Given the description of an element on the screen output the (x, y) to click on. 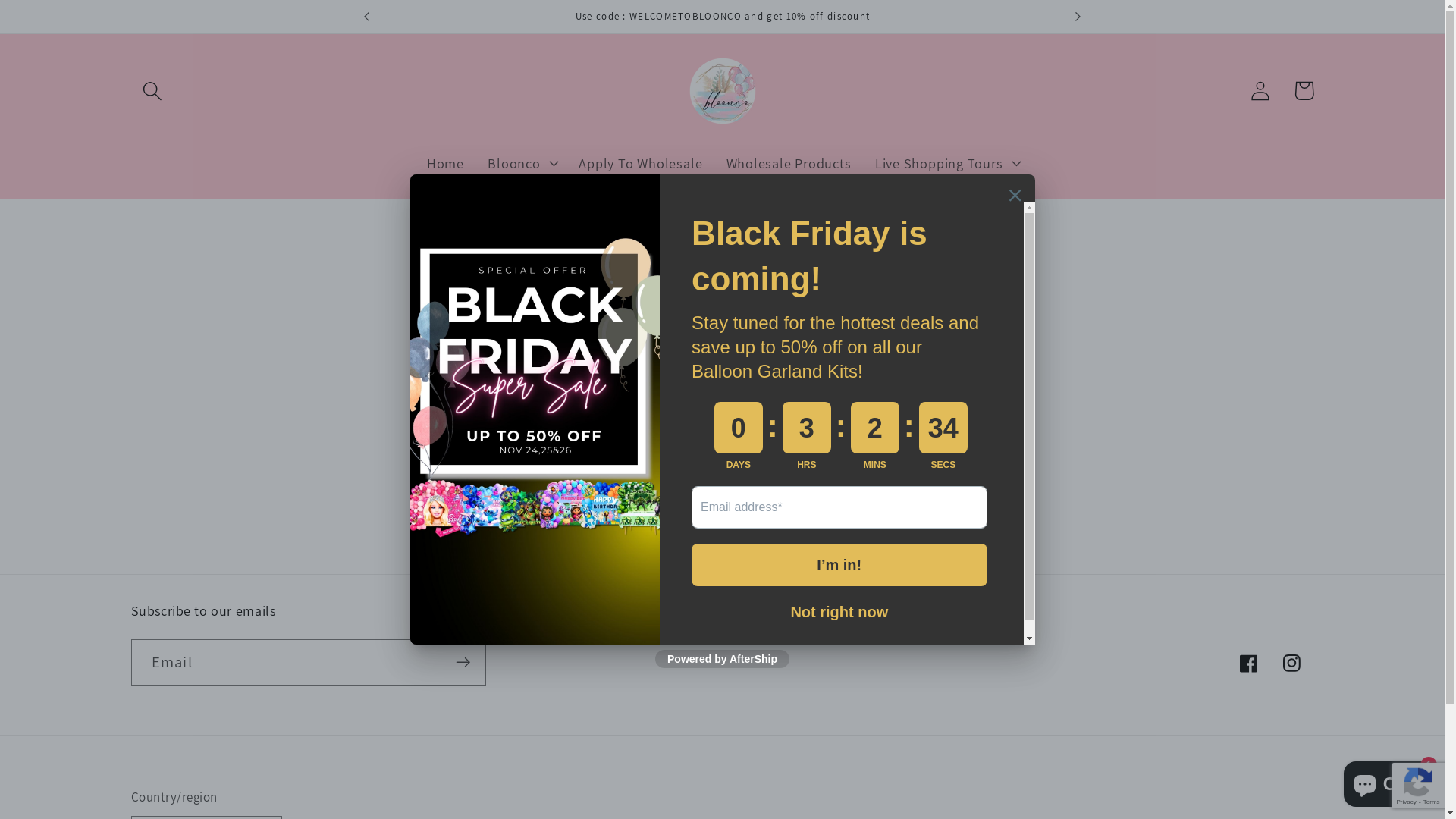
Cart Element type: text (1303, 90)
Log in Element type: text (1260, 90)
Instagram Element type: text (1291, 663)
Shopify online store chat Element type: hover (1388, 780)
Wholesale Products Element type: text (788, 162)
Be one of our Wholesalers! Apply now! Element type: text (722, 16)
Continue shopping Element type: text (721, 454)
Apply To Wholesale Element type: text (640, 162)
Home Element type: text (444, 162)
Facebook Element type: text (1248, 663)
